Given the description of an element on the screen output the (x, y) to click on. 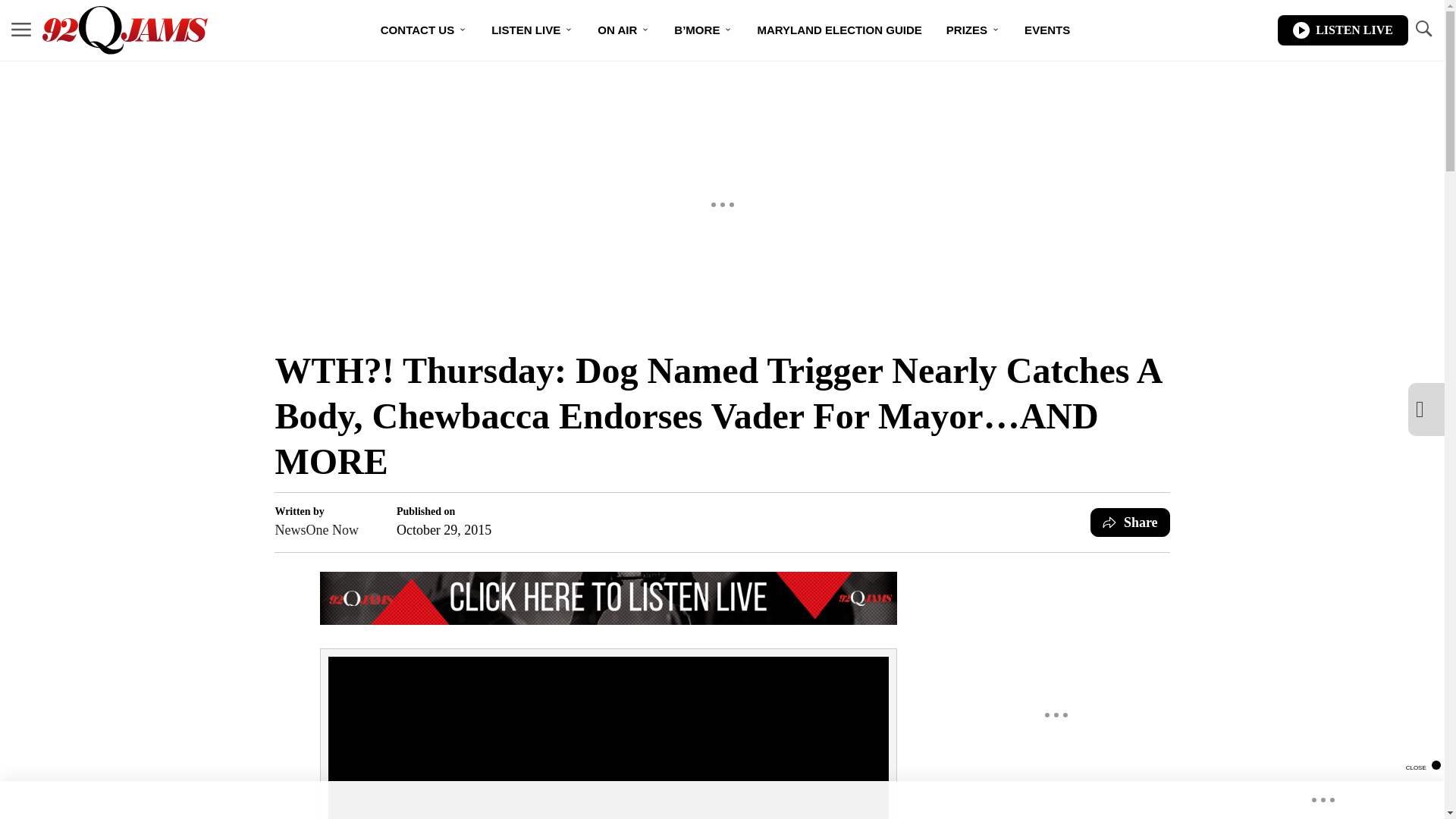
LISTEN LIVE (532, 30)
EVENTS (1046, 30)
CONTACT US (423, 30)
ON AIR (623, 30)
LISTEN LIVE (1342, 30)
MARYLAND ELECTION GUIDE (838, 30)
MENU (20, 29)
TOGGLE SEARCH (1422, 30)
PRIZES (972, 30)
TOGGLE SEARCH (1422, 28)
